Given the description of an element on the screen output the (x, y) to click on. 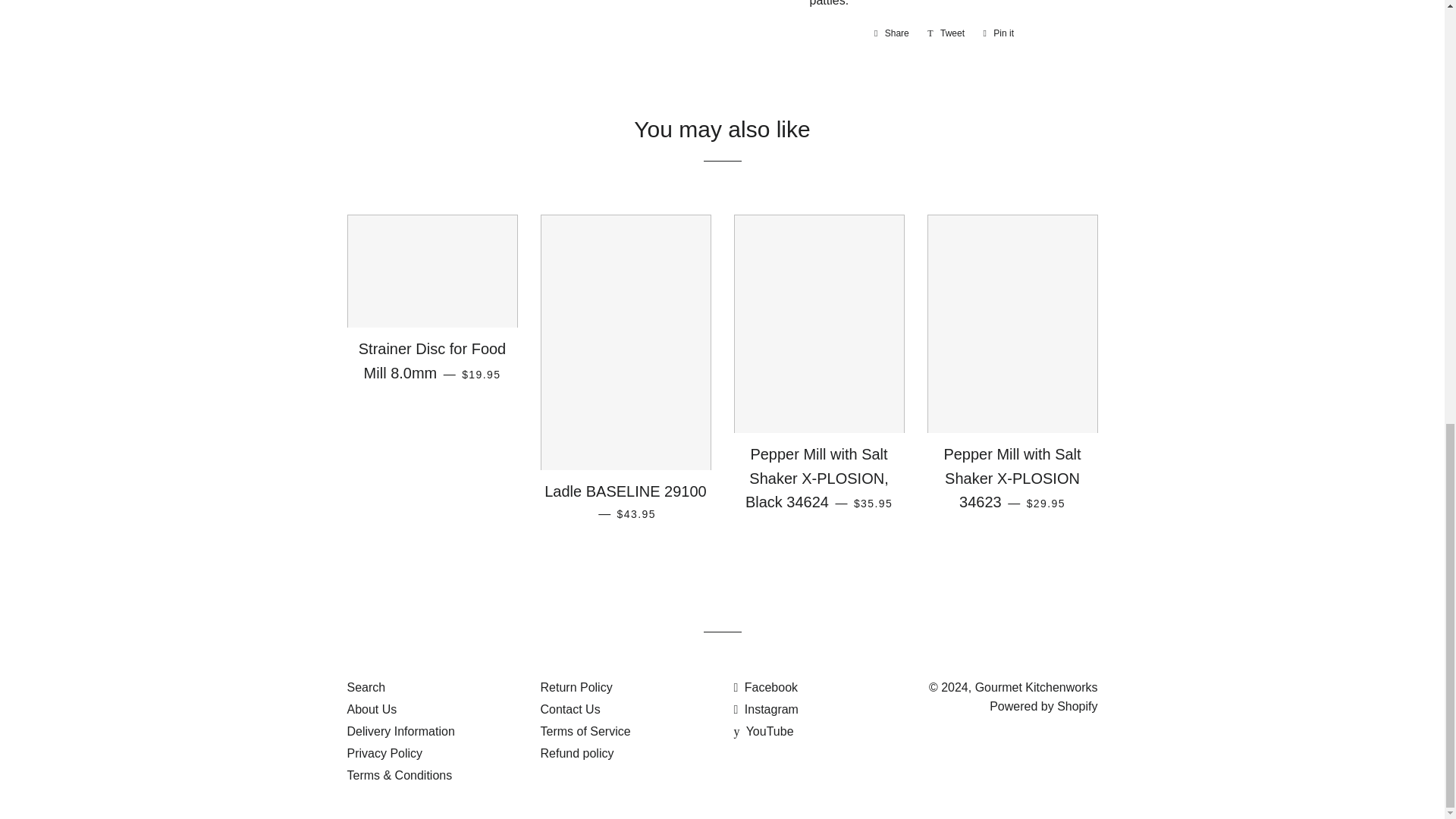
Gourmet Kitchenworks on YouTube (763, 730)
Pin on Pinterest (998, 33)
Gourmet Kitchenworks on Instagram (765, 708)
Share on Facebook (891, 33)
Gourmet Kitchenworks on Facebook (765, 686)
Tweet on Twitter (946, 33)
